Given the description of an element on the screen output the (x, y) to click on. 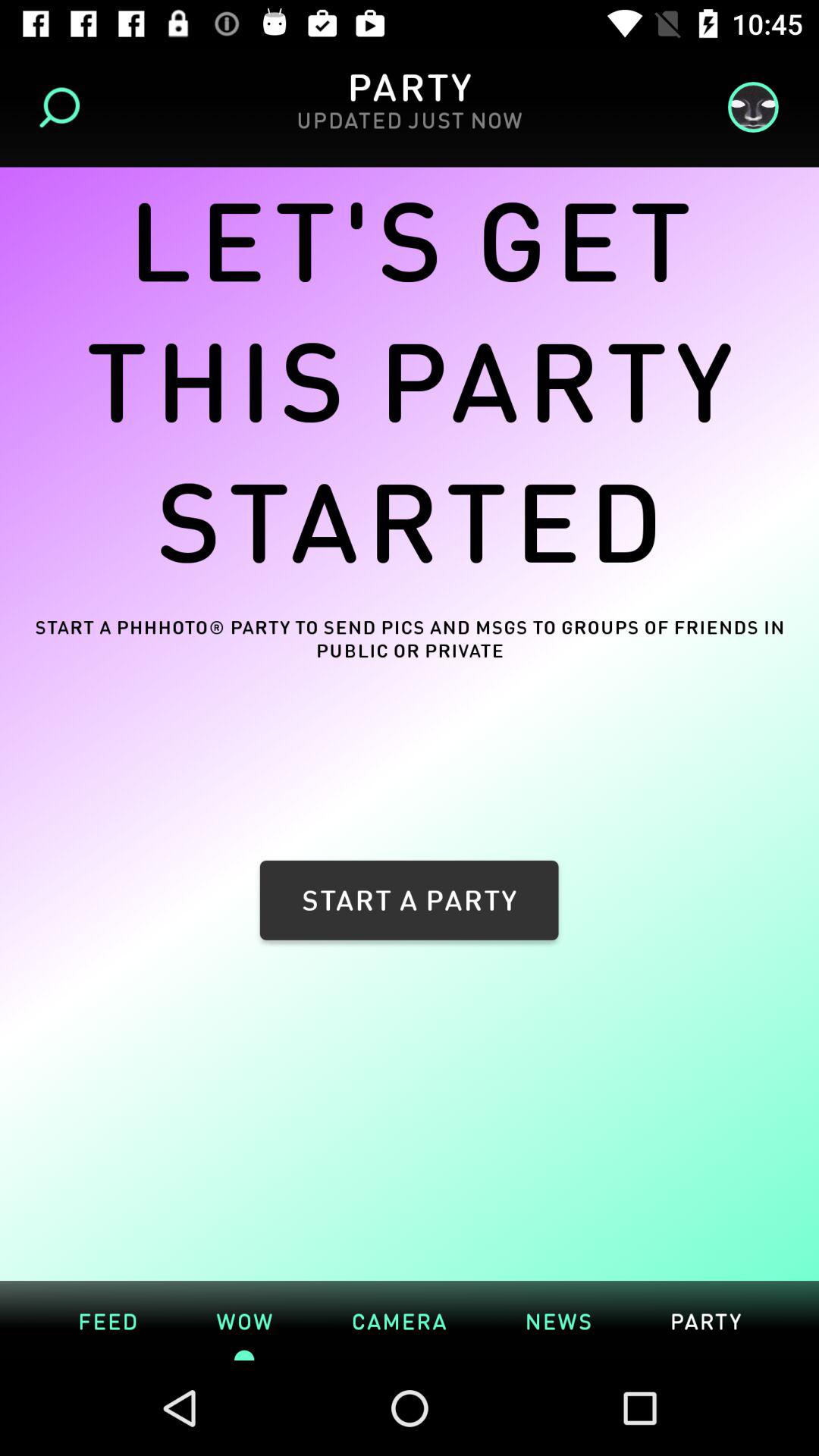
turn on item below the start a party icon (398, 1320)
